Given the description of an element on the screen output the (x, y) to click on. 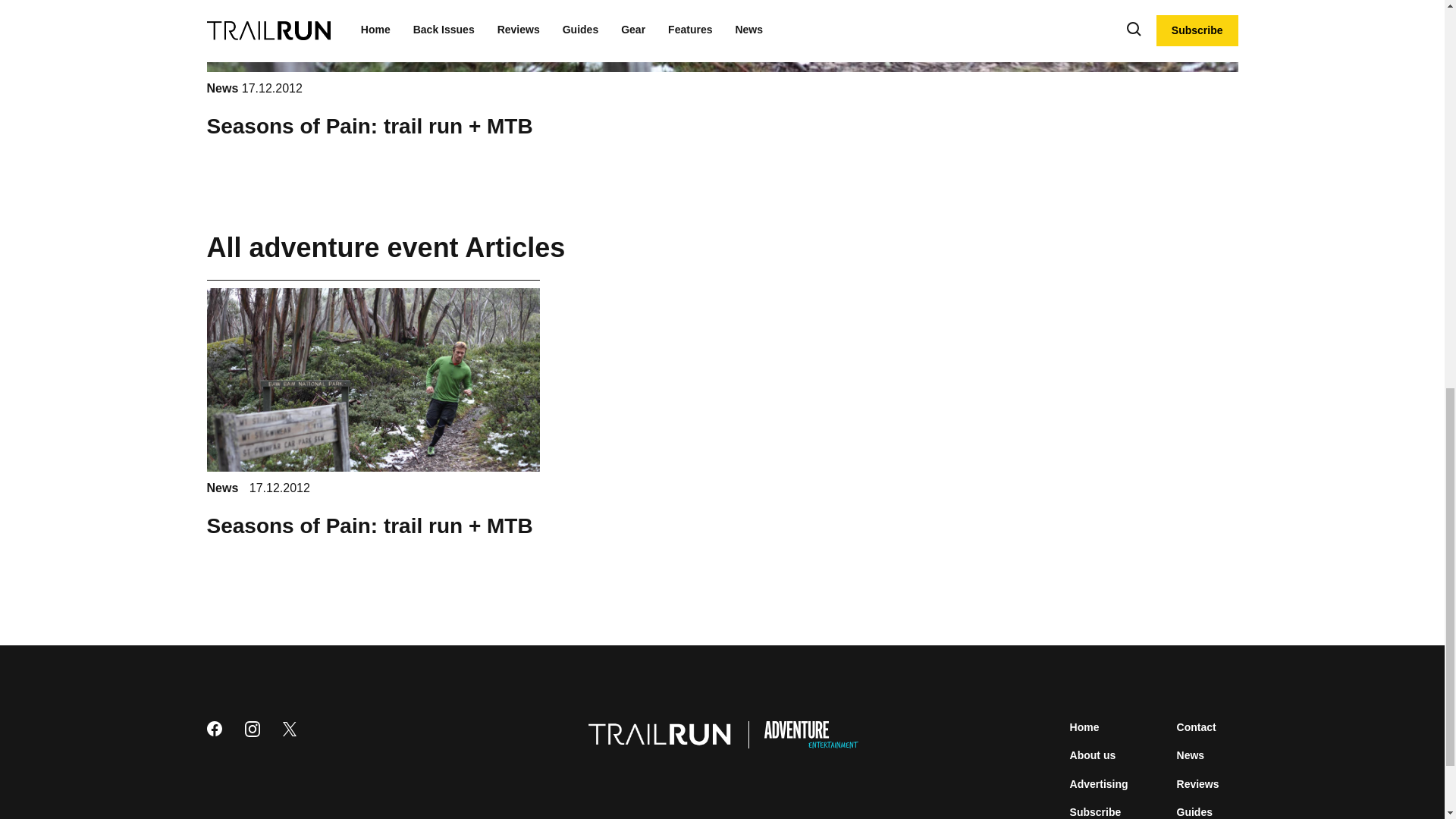
About us (1093, 755)
Home (1084, 727)
News (1190, 755)
Guides (1194, 811)
Contact (1195, 727)
News (223, 88)
Advertising (1099, 784)
News (223, 487)
Reviews (1198, 784)
Subscribe (1095, 811)
